Given the description of an element on the screen output the (x, y) to click on. 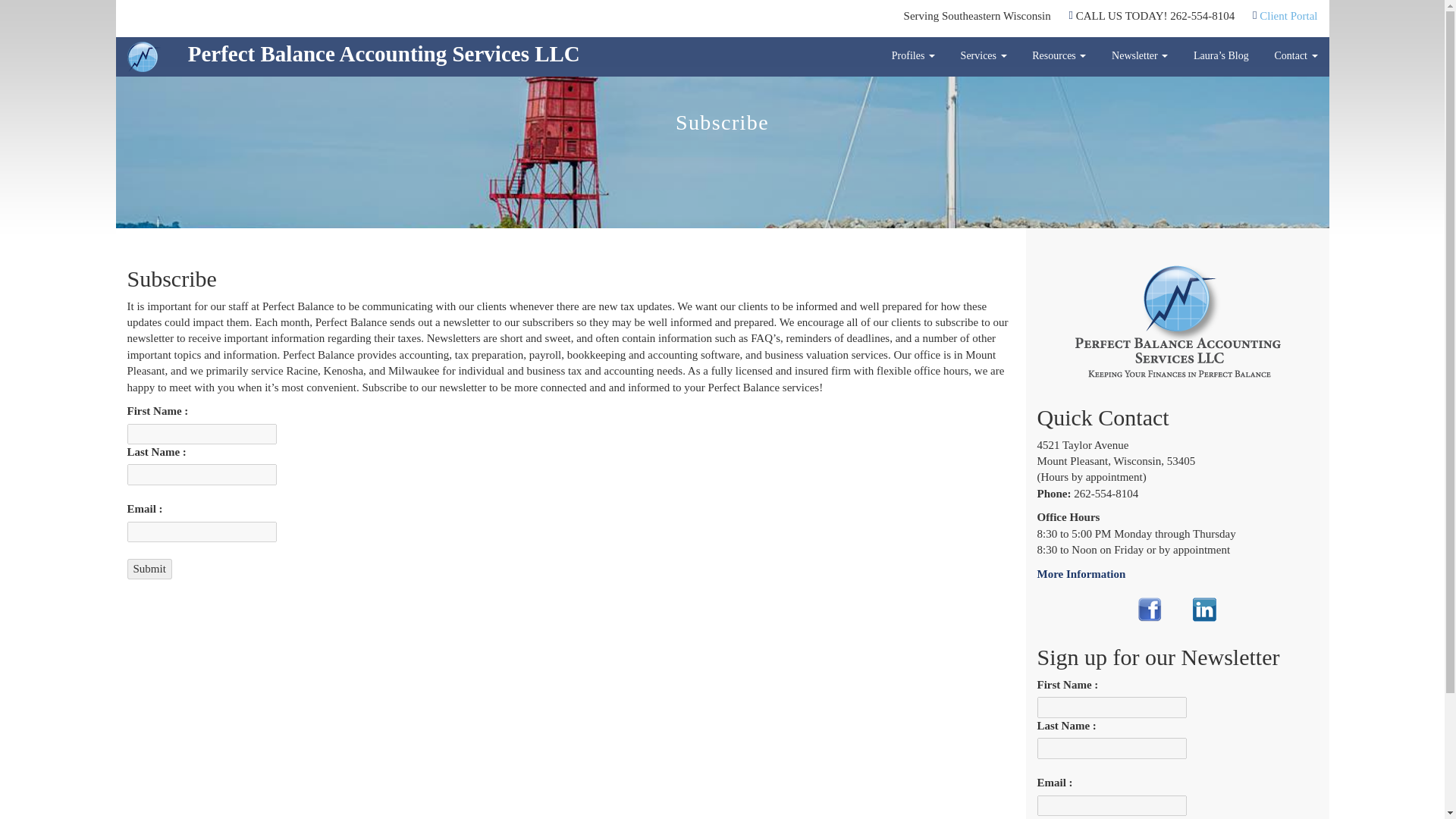
Perfect Balance Accounting Services LLC (353, 55)
Profiles (913, 55)
Profiles (913, 55)
Client Portal (1288, 15)
Resources (1058, 55)
Services (983, 55)
Submit (149, 568)
